Given the description of an element on the screen output the (x, y) to click on. 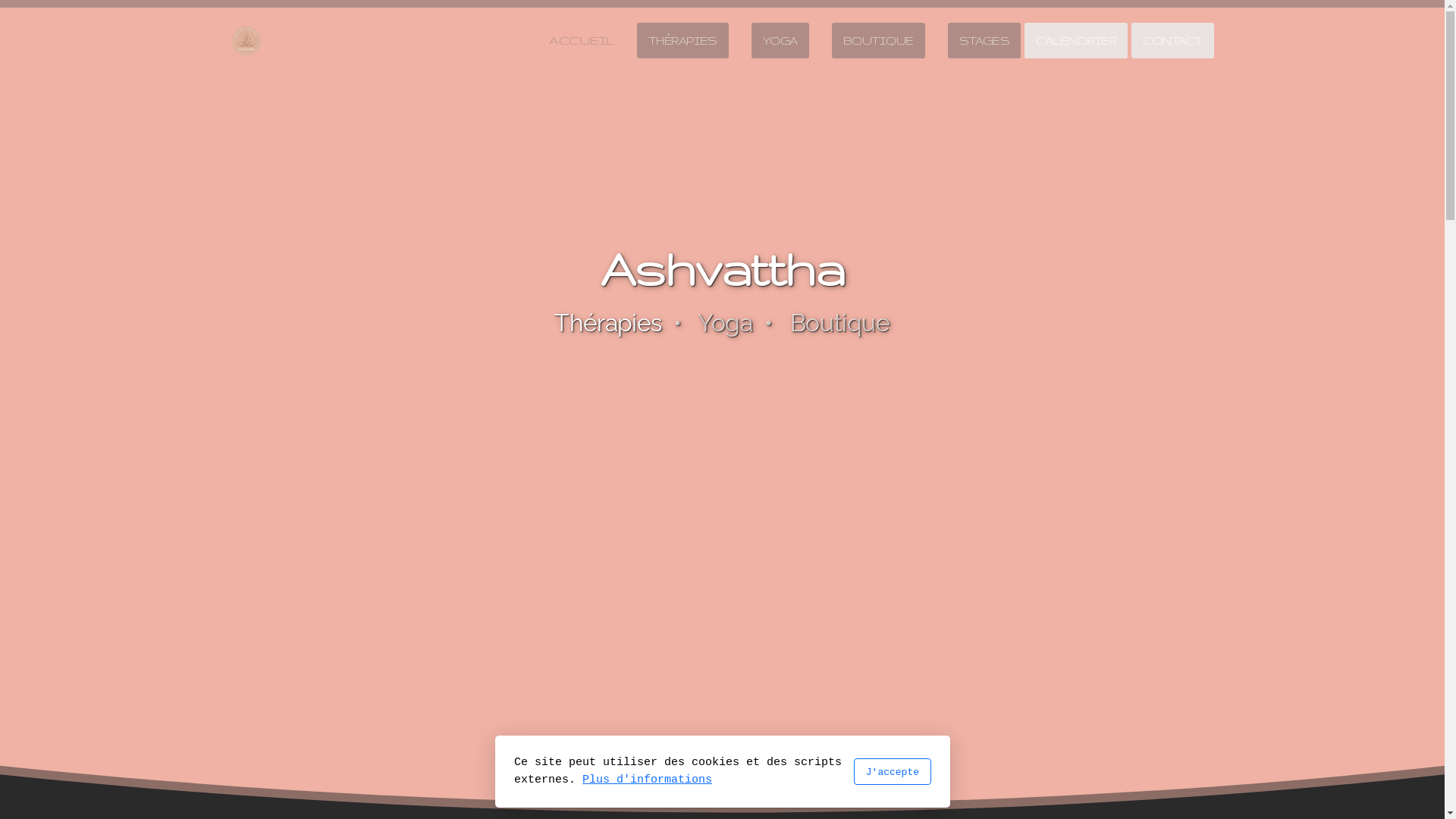
CONTACT Element type: text (1172, 40)
J'accepte Element type: text (891, 771)
YOGA Element type: text (780, 40)
Plus d'informations Element type: text (647, 779)
CALENDRIER Element type: text (1075, 40)
BOUTIQUE Element type: text (878, 40)
ACCUEIL Element type: text (581, 40)
STAGES Element type: text (984, 40)
